Given the description of an element on the screen output the (x, y) to click on. 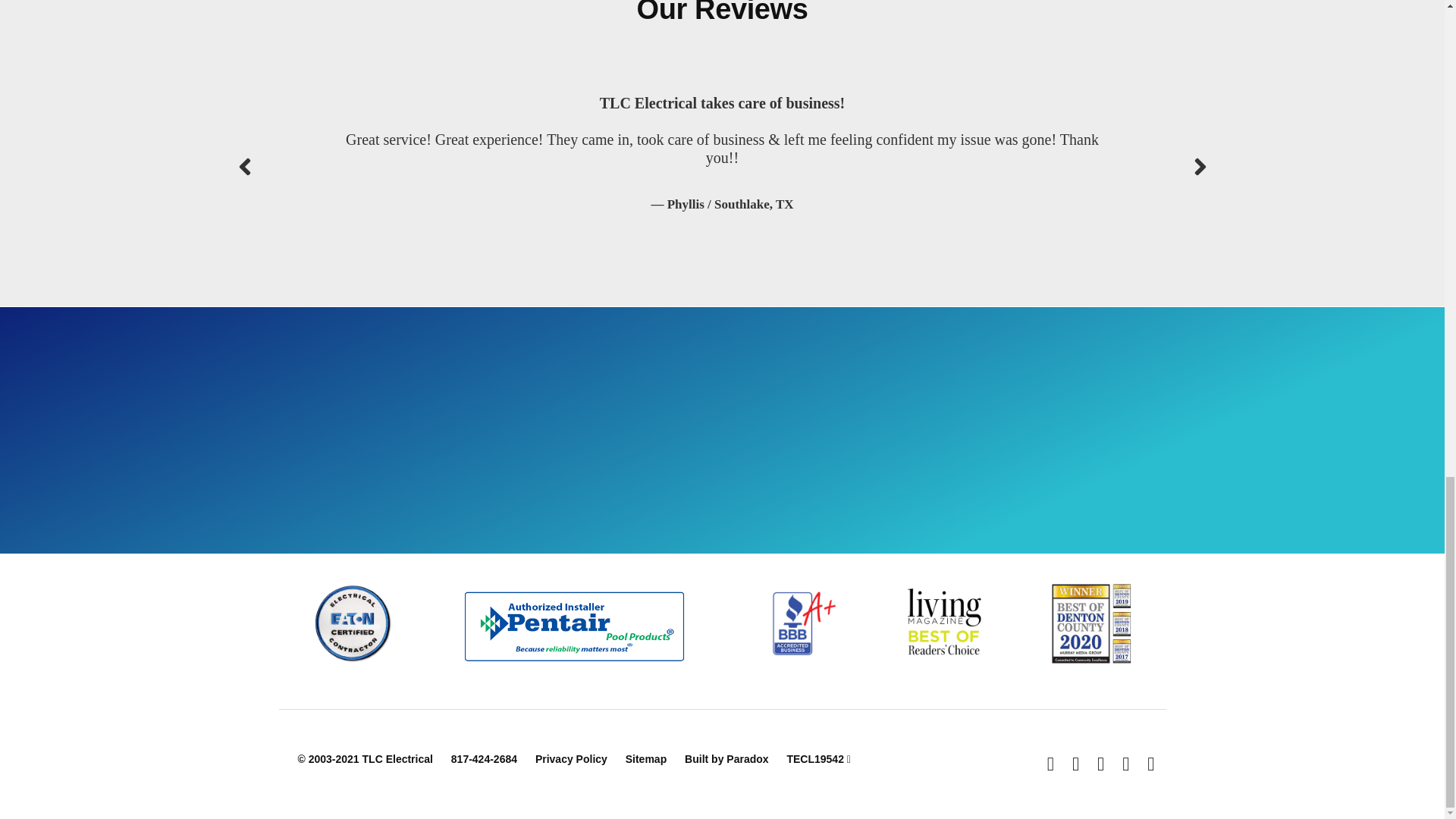
Pinterest (1150, 764)
Google Plus (1100, 764)
Facebook (1050, 764)
You Tube (1125, 764)
Twitter (1074, 764)
